Given the description of an element on the screen output the (x, y) to click on. 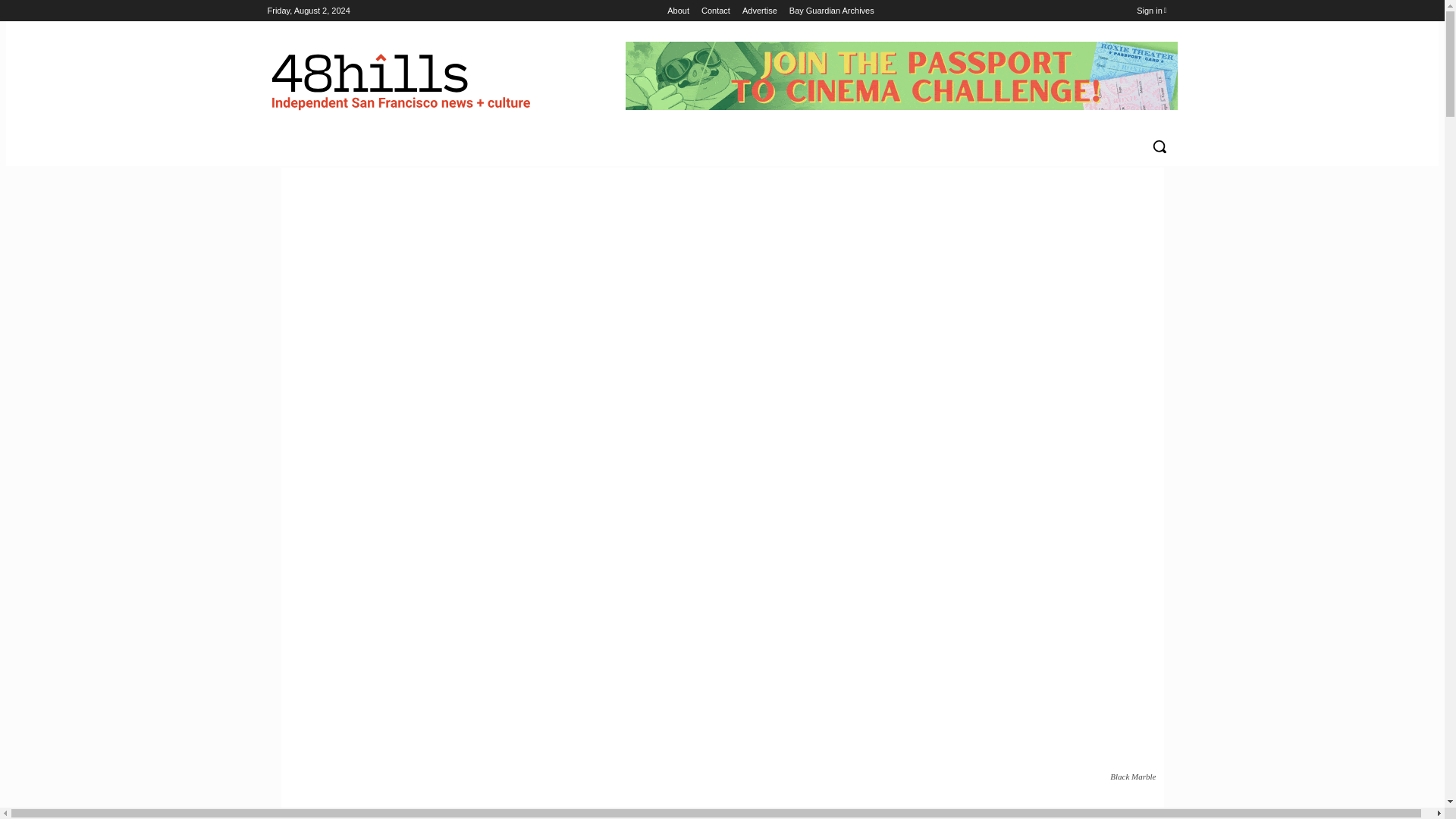
About (677, 10)
Advertise (759, 10)
48 Hills (403, 77)
Contact (715, 10)
Bay Guardian Archives (832, 10)
Sign in (1151, 10)
